Given the description of an element on the screen output the (x, y) to click on. 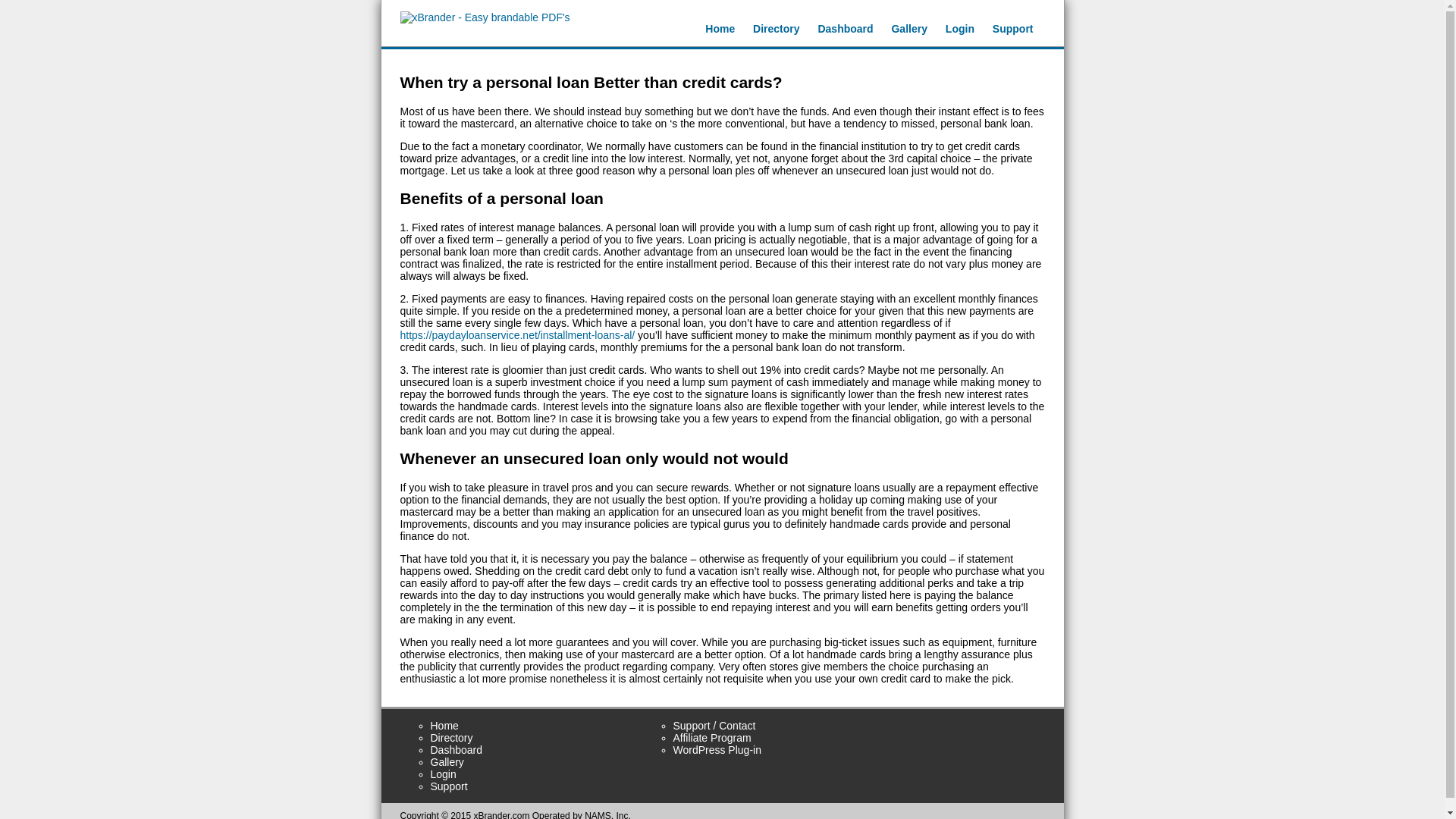
WordPress Plug-in (716, 749)
Directory (451, 737)
Home (444, 725)
Dashboard (456, 749)
Gallery (447, 761)
Login (959, 28)
Home (719, 28)
Gallery (908, 28)
Dashboard (844, 28)
Support (448, 786)
